Given the description of an element on the screen output the (x, y) to click on. 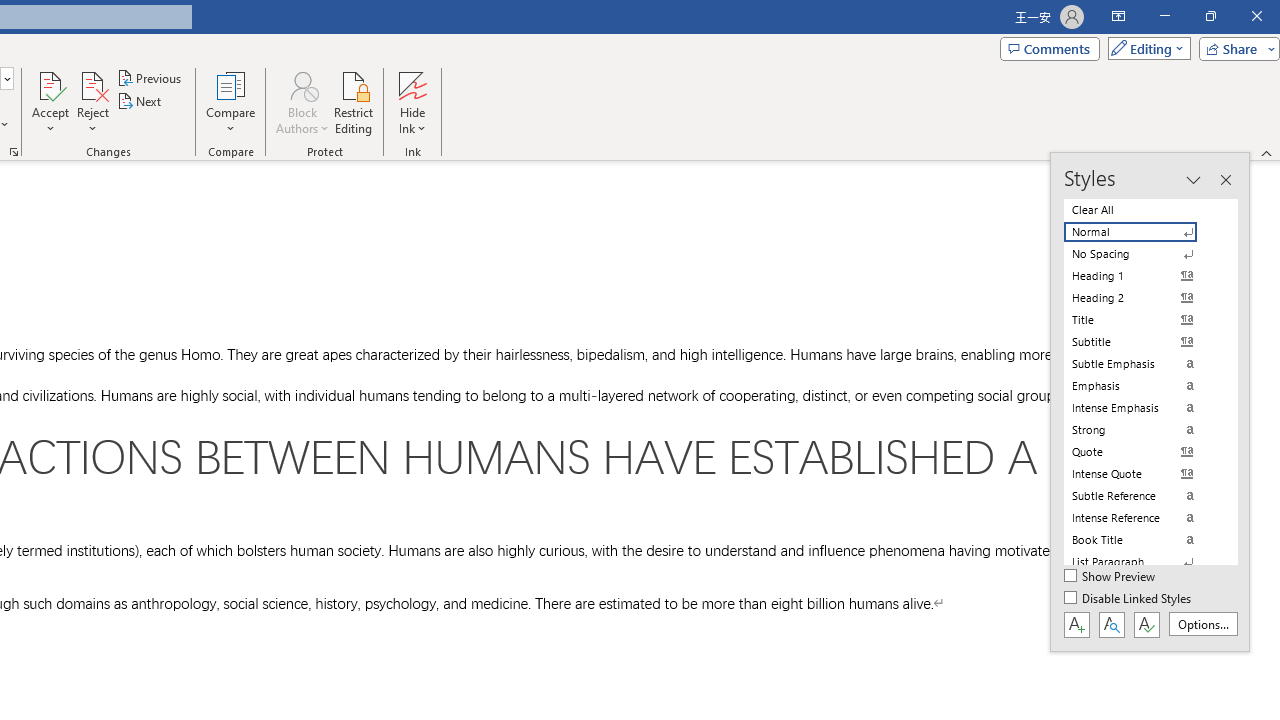
Accept and Move to Next (50, 84)
Hide Ink (412, 84)
Intense Emphasis (1142, 407)
